Given the description of an element on the screen output the (x, y) to click on. 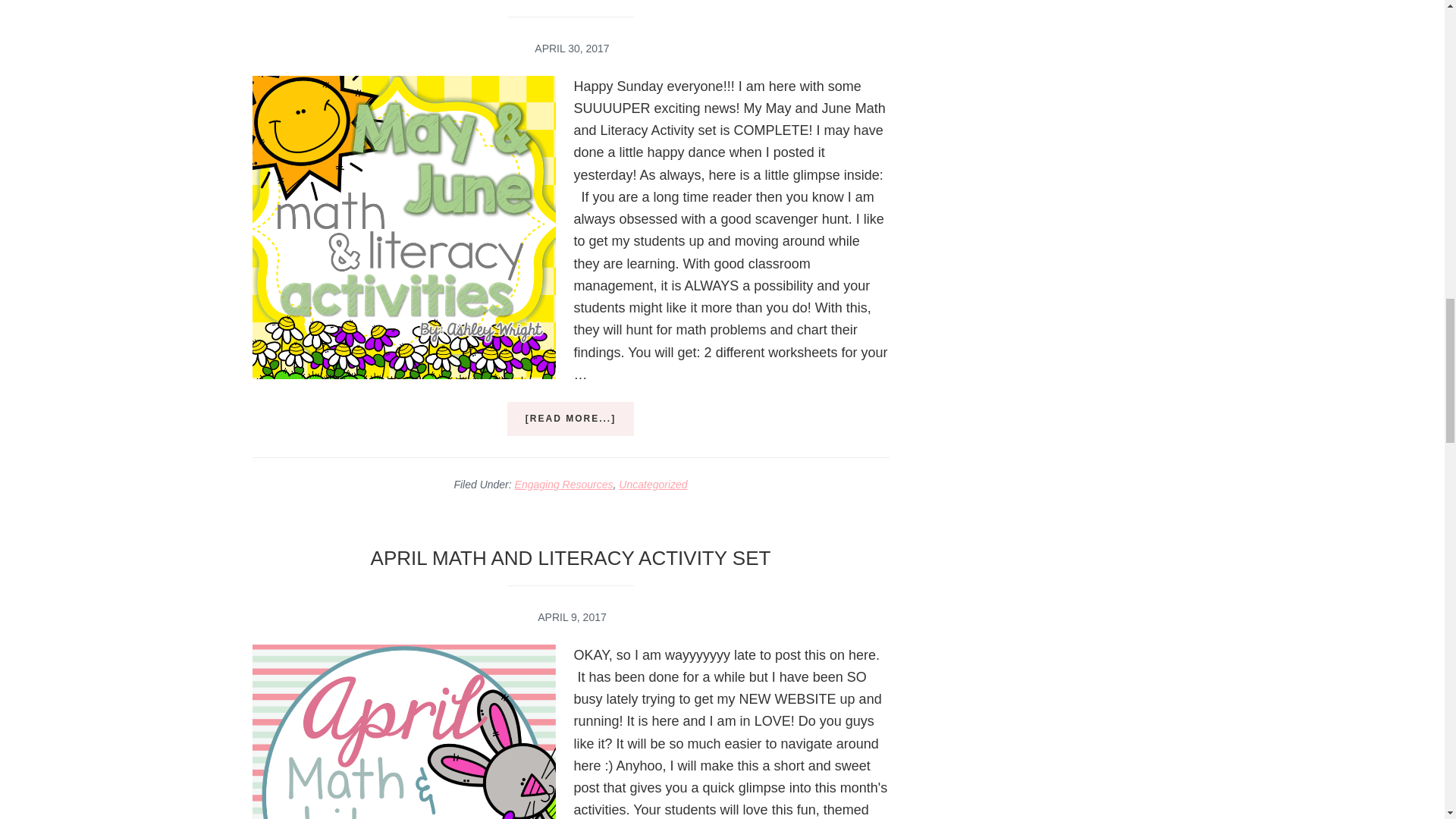
Engaging Resources (563, 484)
